Given the description of an element on the screen output the (x, y) to click on. 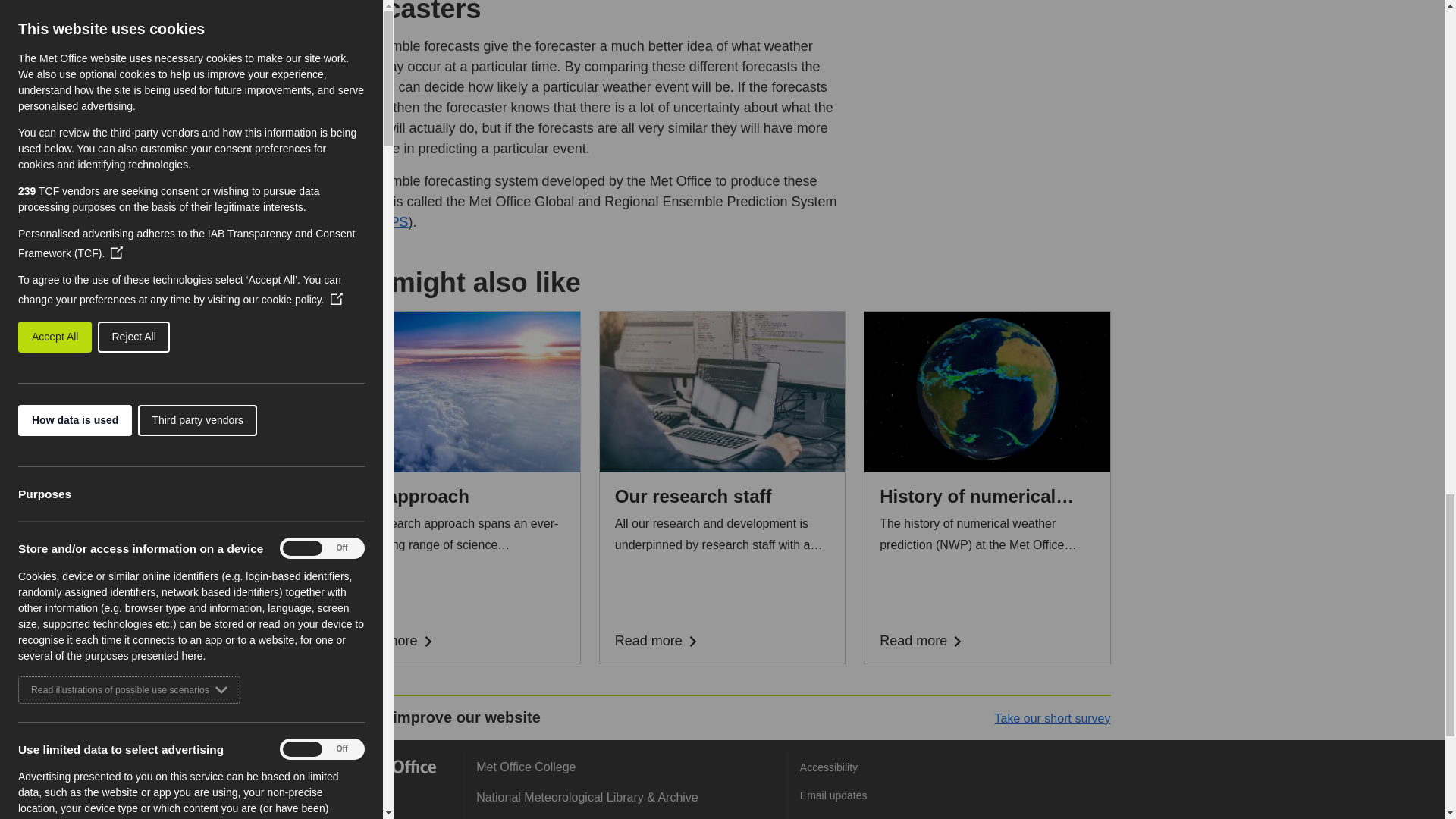
Read illustrations of possible use scenarios (128, 166)
Read illustrations of possible use scenarios (128, 413)
Read illustrations of possible use scenarios (128, 677)
